Given the description of an element on the screen output the (x, y) to click on. 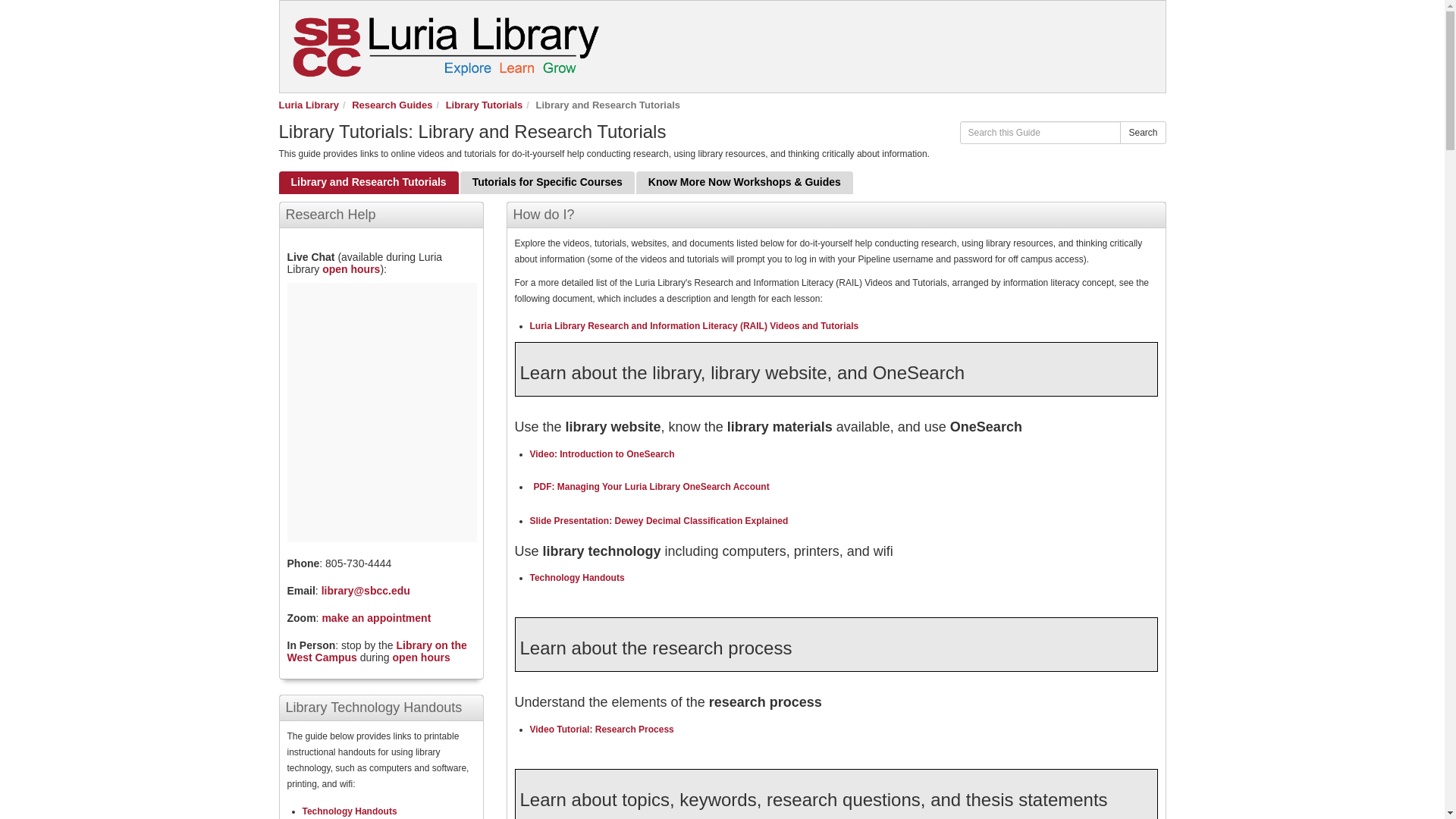
open hours (350, 268)
Library on the West Campus (375, 651)
Library Tutorials (483, 104)
Tutorials for Specific Courses (547, 182)
Video: Introduction to OneSearch (601, 453)
Luria Library (309, 104)
Slide Presentation: Dewey Decimal Classification Explained (658, 520)
PDF: Managing Your Luria Library OneSearch Account (648, 486)
Technology Handouts (348, 810)
Research Guides (392, 104)
Video Tutorial: Research Process (600, 728)
make an appointment (375, 617)
open hours (421, 657)
Search (1142, 132)
Library and Research Tutorials (368, 182)
